Given the description of an element on the screen output the (x, y) to click on. 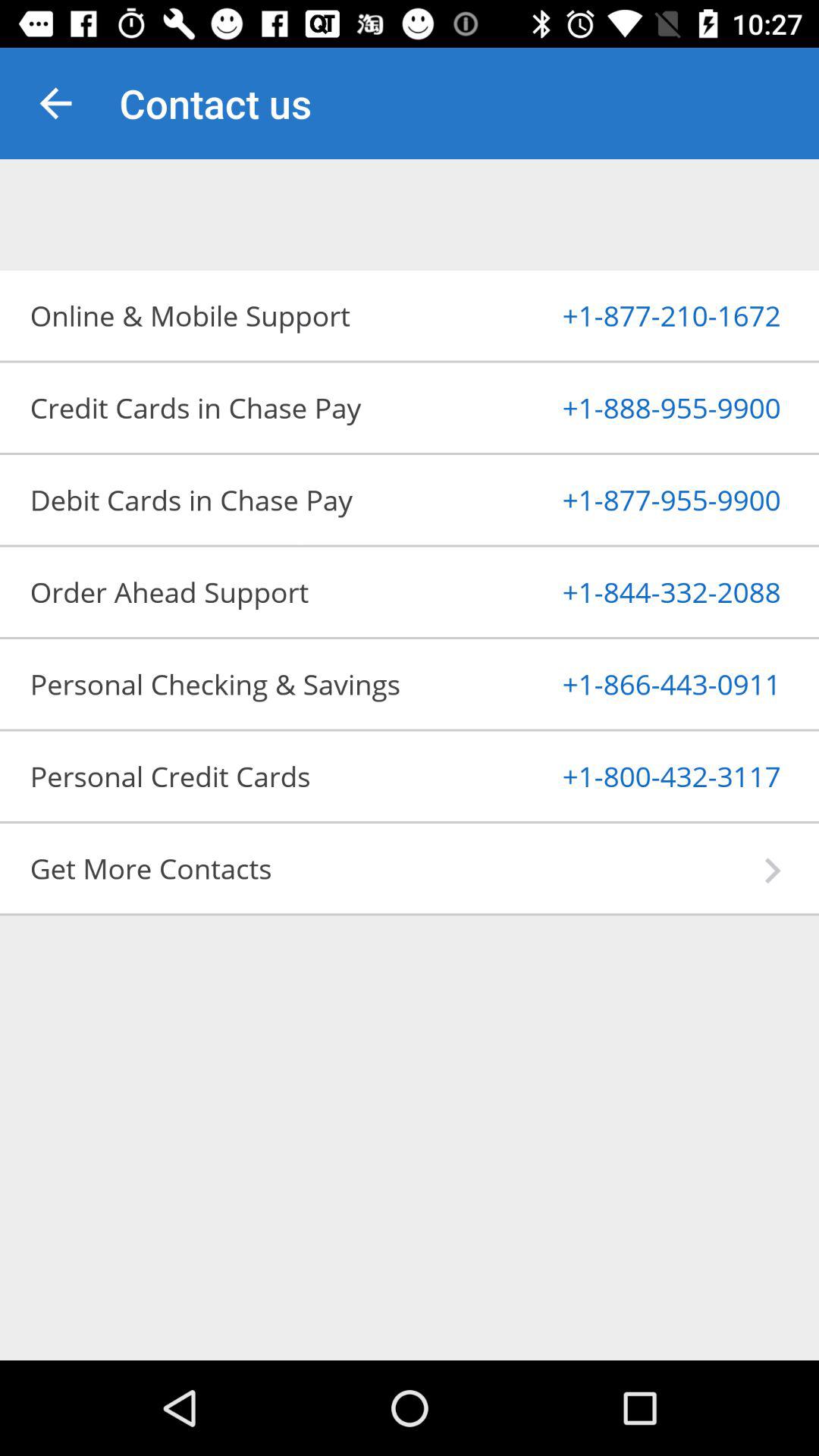
turn on app to the right of the get more contacts icon (772, 870)
